Given the description of an element on the screen output the (x, y) to click on. 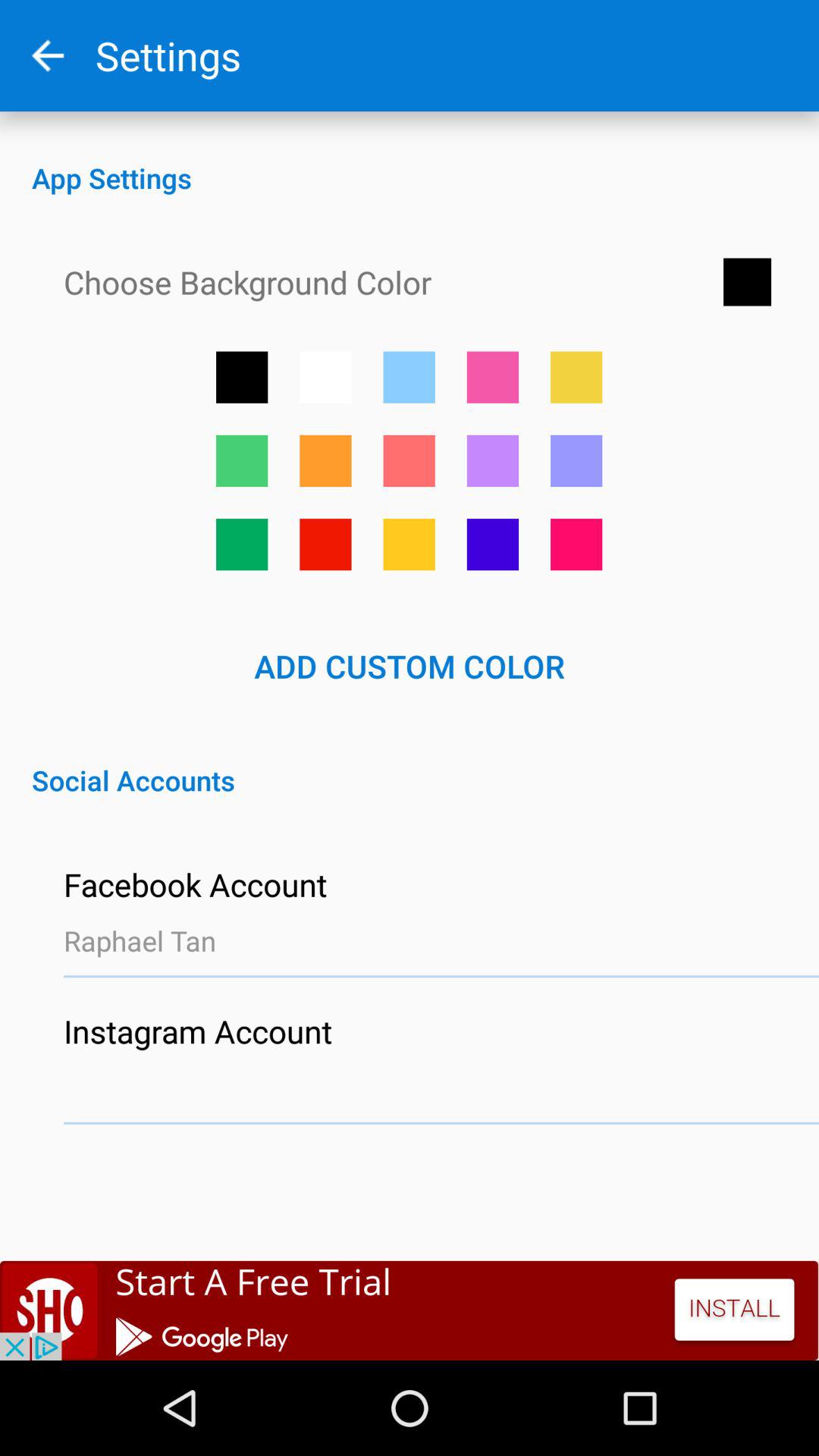
go to colour box (576, 377)
